Given the description of an element on the screen output the (x, y) to click on. 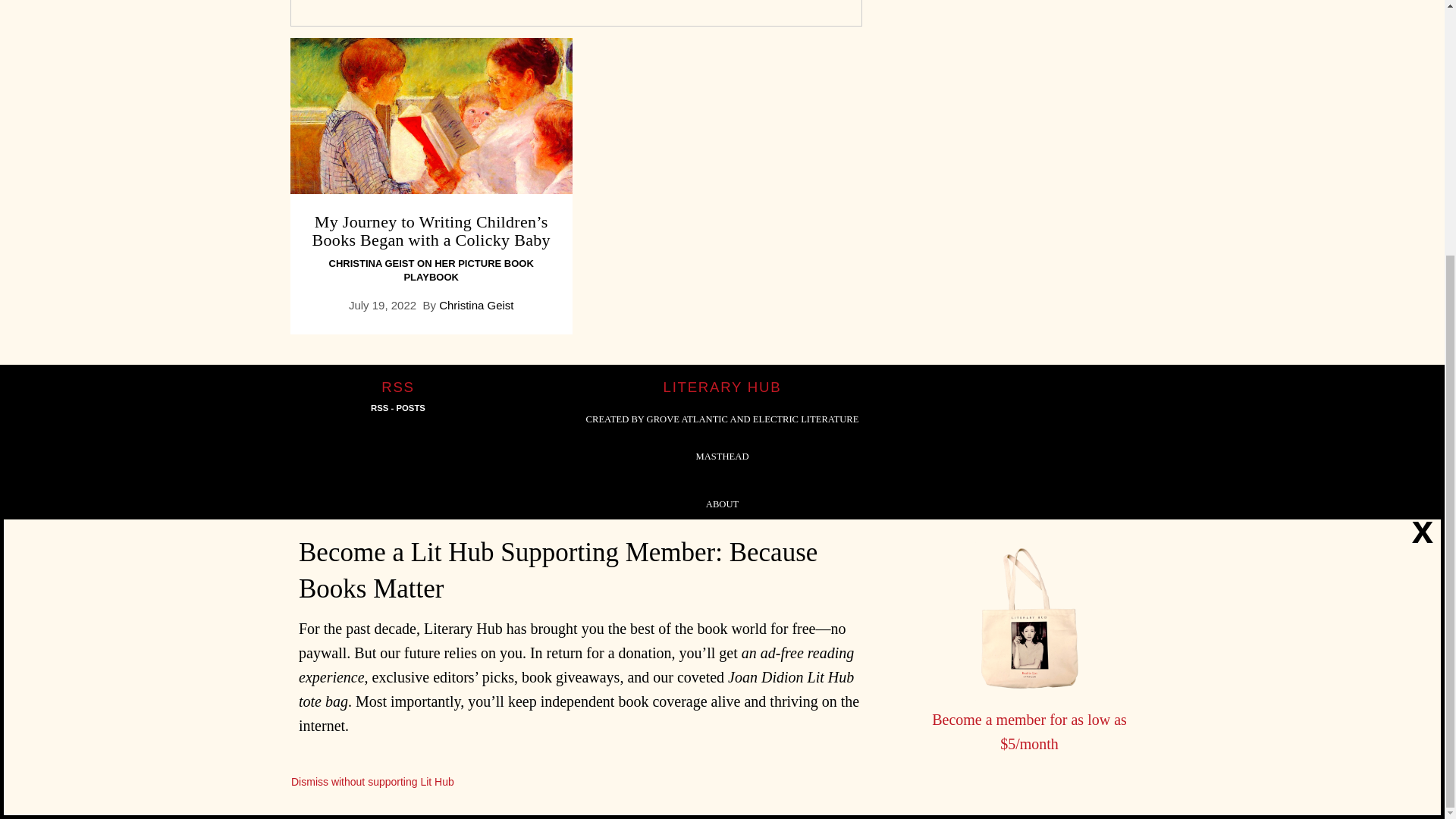
Subscribe to posts (398, 407)
